Given the description of an element on the screen output the (x, y) to click on. 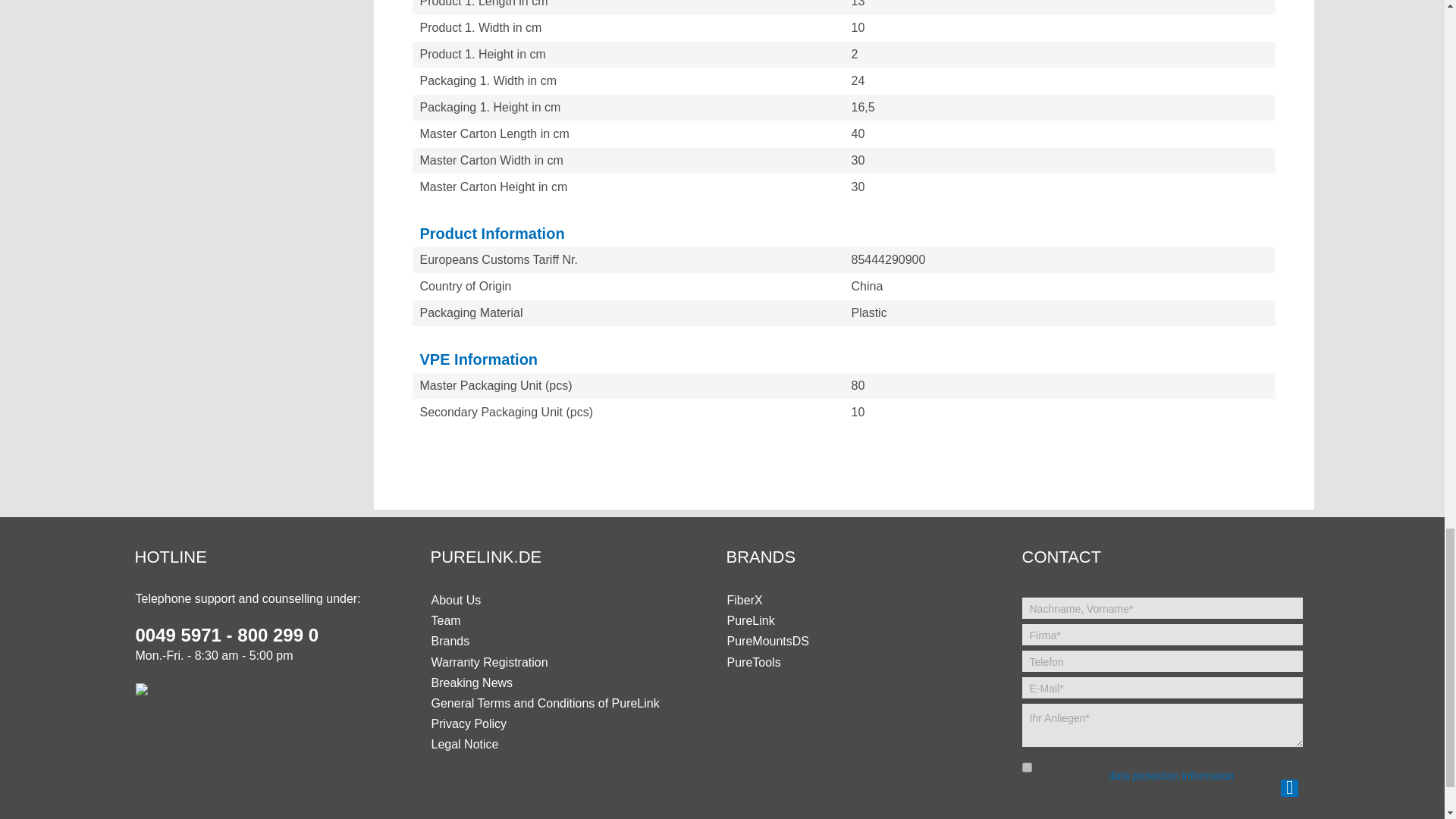
1 (1027, 767)
